Given the description of an element on the screen output the (x, y) to click on. 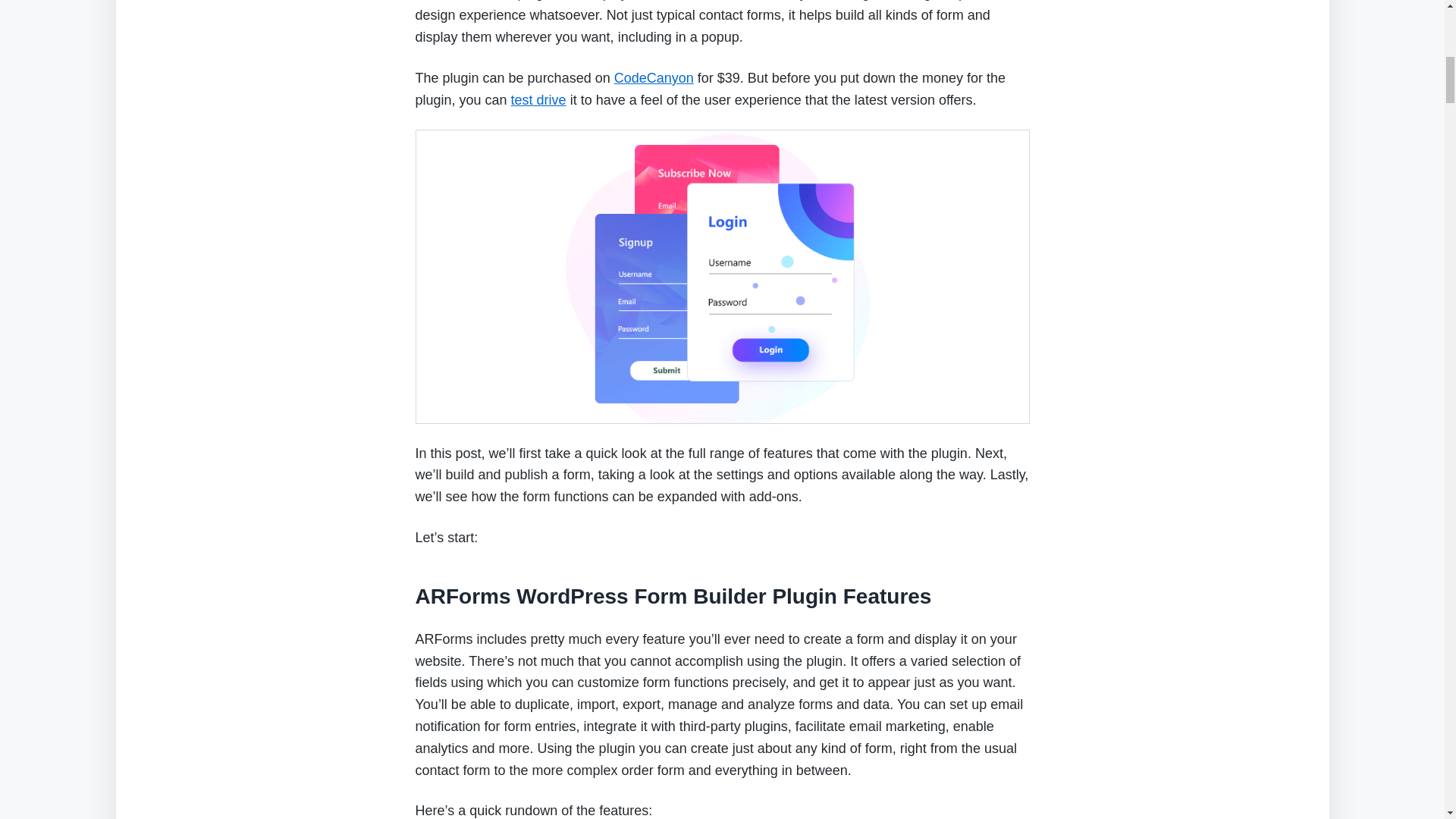
test drive (538, 99)
CodeCanyon (654, 77)
